Given the description of an element on the screen output the (x, y) to click on. 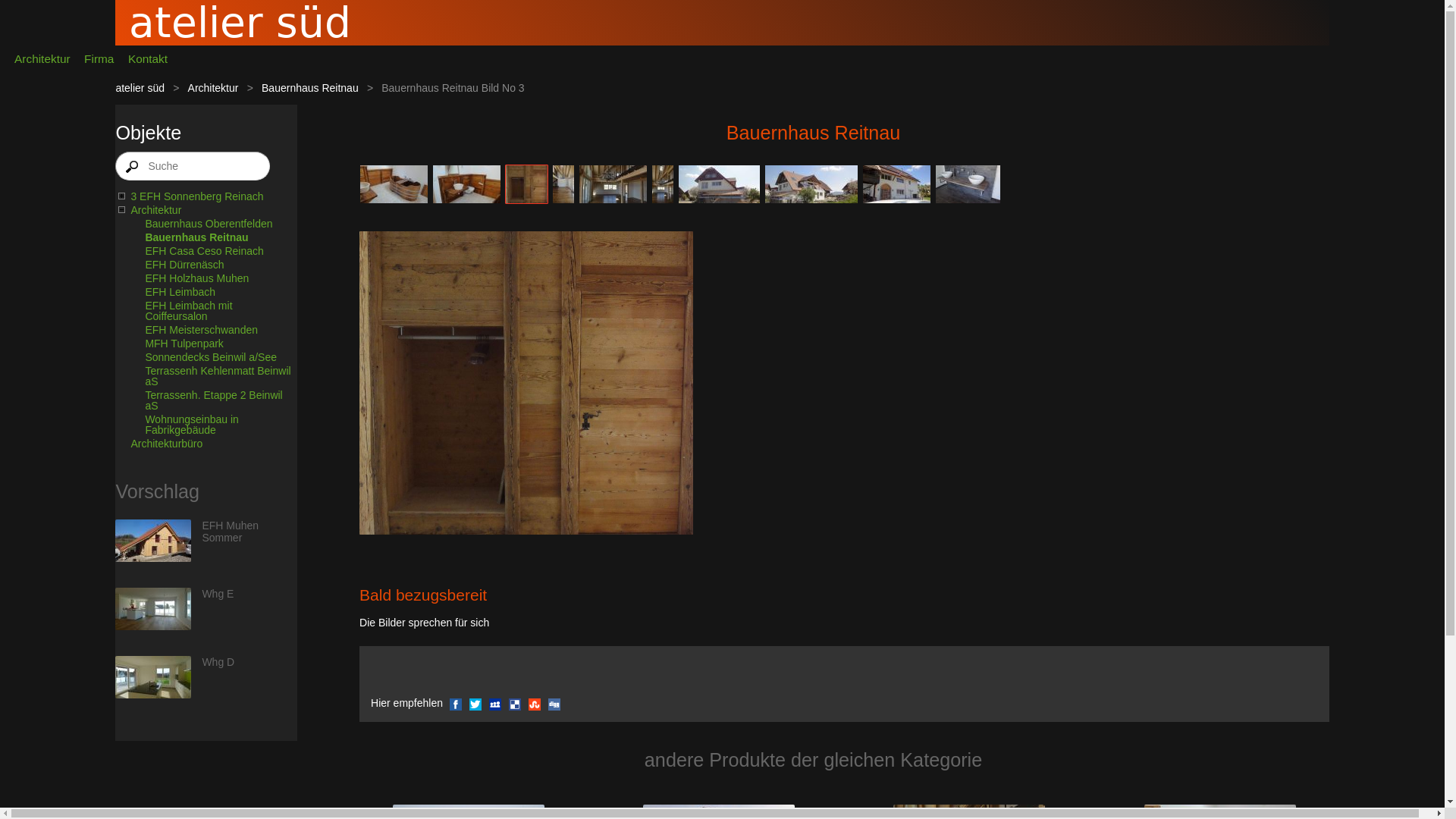
Firma Element type: text (99, 58)
EFH Casa Ceso Reinach Element type: text (213, 250)
Terrassenh. Etappe 2 Beinwil aS Element type: text (213, 400)
EFH Muhen Sommer Element type: hover (153, 541)
Whg D Element type: hover (153, 677)
Architektur Element type: text (206, 209)
EFH Holzhaus Muhen Element type: text (213, 278)
Architektur Element type: text (45, 58)
Whg E Element type: text (217, 593)
Bauernhaus Reitnau Element type: hover (526, 382)
Kontakt Element type: text (148, 58)
EFH Muhen Sommer Element type: text (229, 531)
Whg E Element type: hover (153, 609)
Whg D Element type: text (217, 661)
Suche Element type: hover (192, 165)
Sonnendecks Beinwil a/See Element type: text (213, 356)
EFH Meisterschwanden Element type: text (213, 329)
Bauernhaus Oberentfelden Element type: text (213, 223)
EFH Leimbach Element type: text (213, 291)
3 EFH Sonnenberg Reinach Element type: text (206, 196)
Bauernhaus Reitnau Element type: text (213, 237)
Architektur Element type: text (213, 87)
Bauernhaus Reitnau Element type: text (309, 87)
Terrassenh Kehlenmatt Beinwil aS Element type: text (213, 375)
EFH Leimbach mit Coiffeursalon Element type: text (213, 310)
MFH Tulpenpark Element type: text (213, 343)
